Given the description of an element on the screen output the (x, y) to click on. 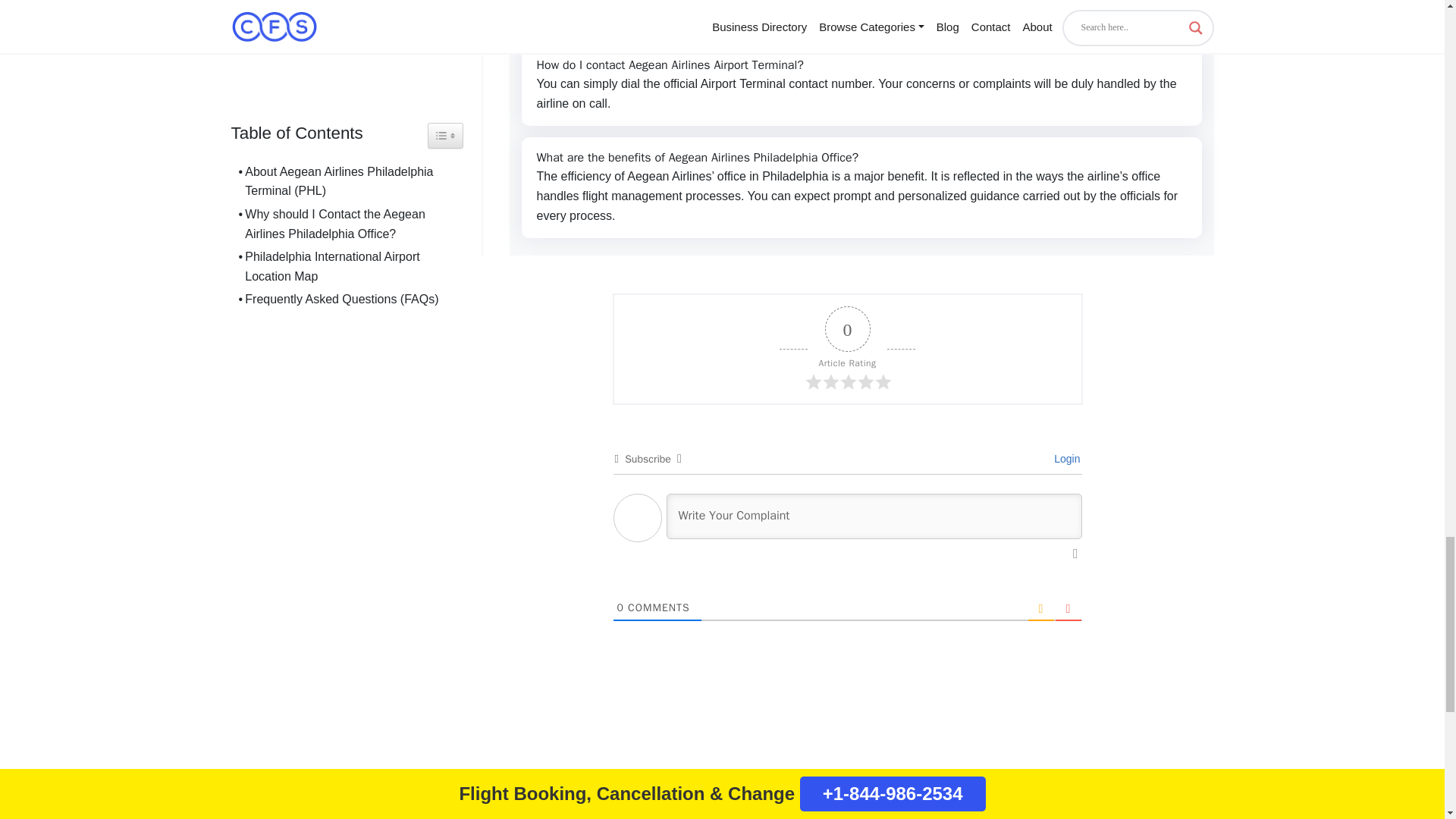
Login (1064, 458)
